Given the description of an element on the screen output the (x, y) to click on. 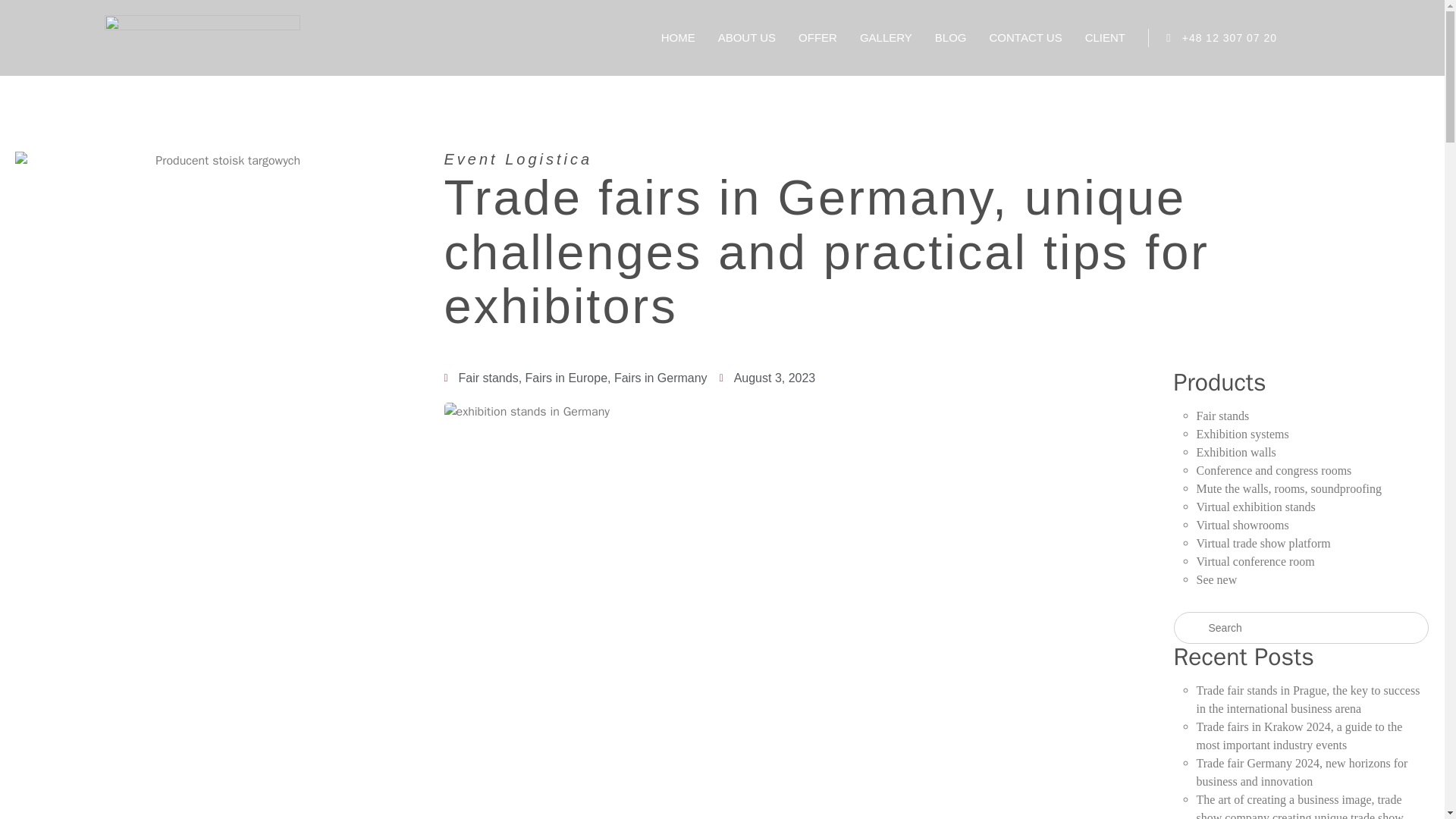
CONTACT US (1026, 37)
CLIENT (1104, 37)
BLOG (950, 37)
HOME (678, 37)
ABOUT US (746, 37)
OFFER (817, 37)
GALLERY (886, 37)
